Given the description of an element on the screen output the (x, y) to click on. 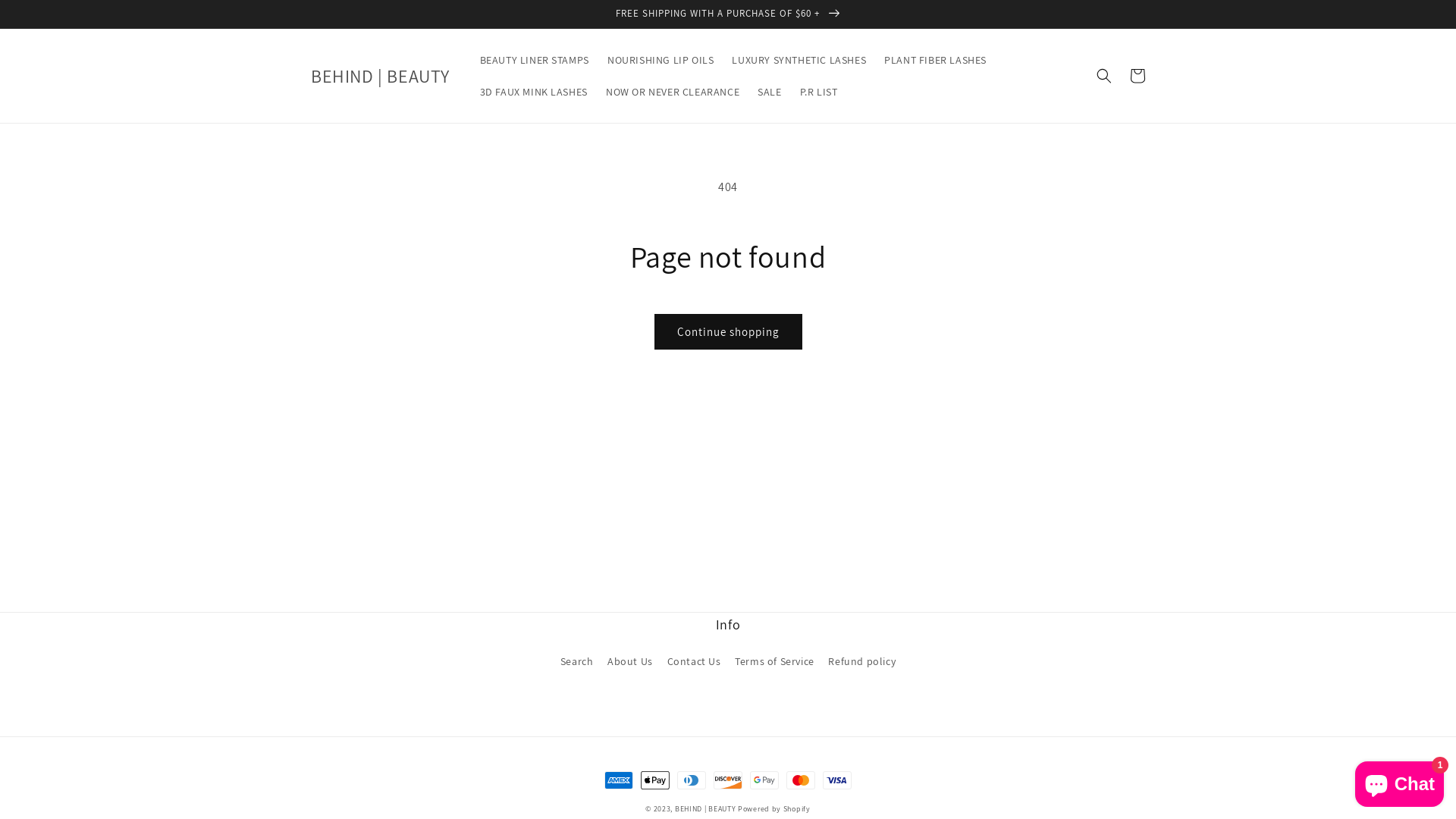
Search Element type: text (576, 663)
Powered by Shopify Element type: text (773, 808)
Continue shopping Element type: text (727, 331)
Refund policy Element type: text (861, 661)
NOURISHING LIP OILS Element type: text (660, 59)
Shopify online store chat Element type: hover (1399, 780)
Contact Us Element type: text (694, 661)
Terms of Service Element type: text (774, 661)
NOW OR NEVER CLEARANCE Element type: text (672, 91)
3D FAUX MINK LASHES Element type: text (533, 91)
About Us Element type: text (629, 661)
BEHIND | BEAUTY Element type: text (379, 76)
SALE Element type: text (769, 91)
BEAUTY LINER STAMPS Element type: text (533, 59)
LUXURY SYNTHETIC LASHES Element type: text (798, 59)
BEHIND | BEAUTY Element type: text (705, 808)
Cart Element type: text (1137, 75)
PLANT FIBER LASHES Element type: text (935, 59)
